Given the description of an element on the screen output the (x, y) to click on. 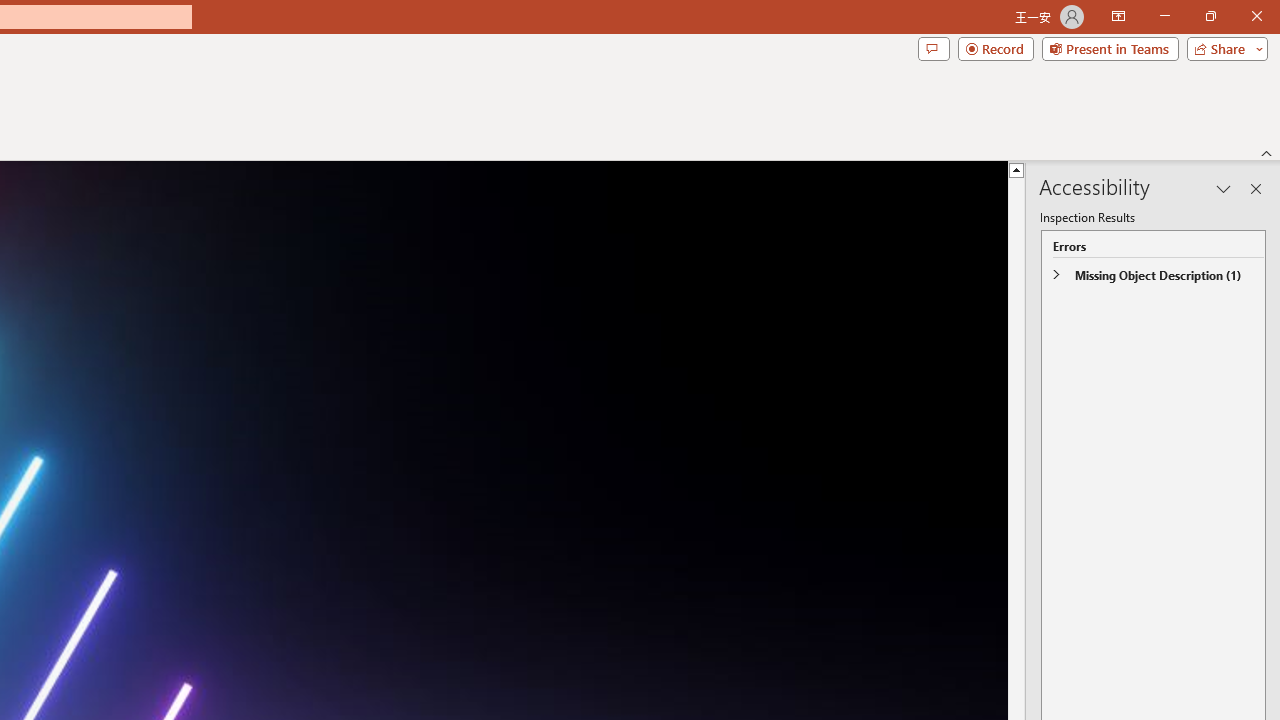
Close pane (1256, 188)
Task Pane Options (1224, 188)
